Given the description of an element on the screen output the (x, y) to click on. 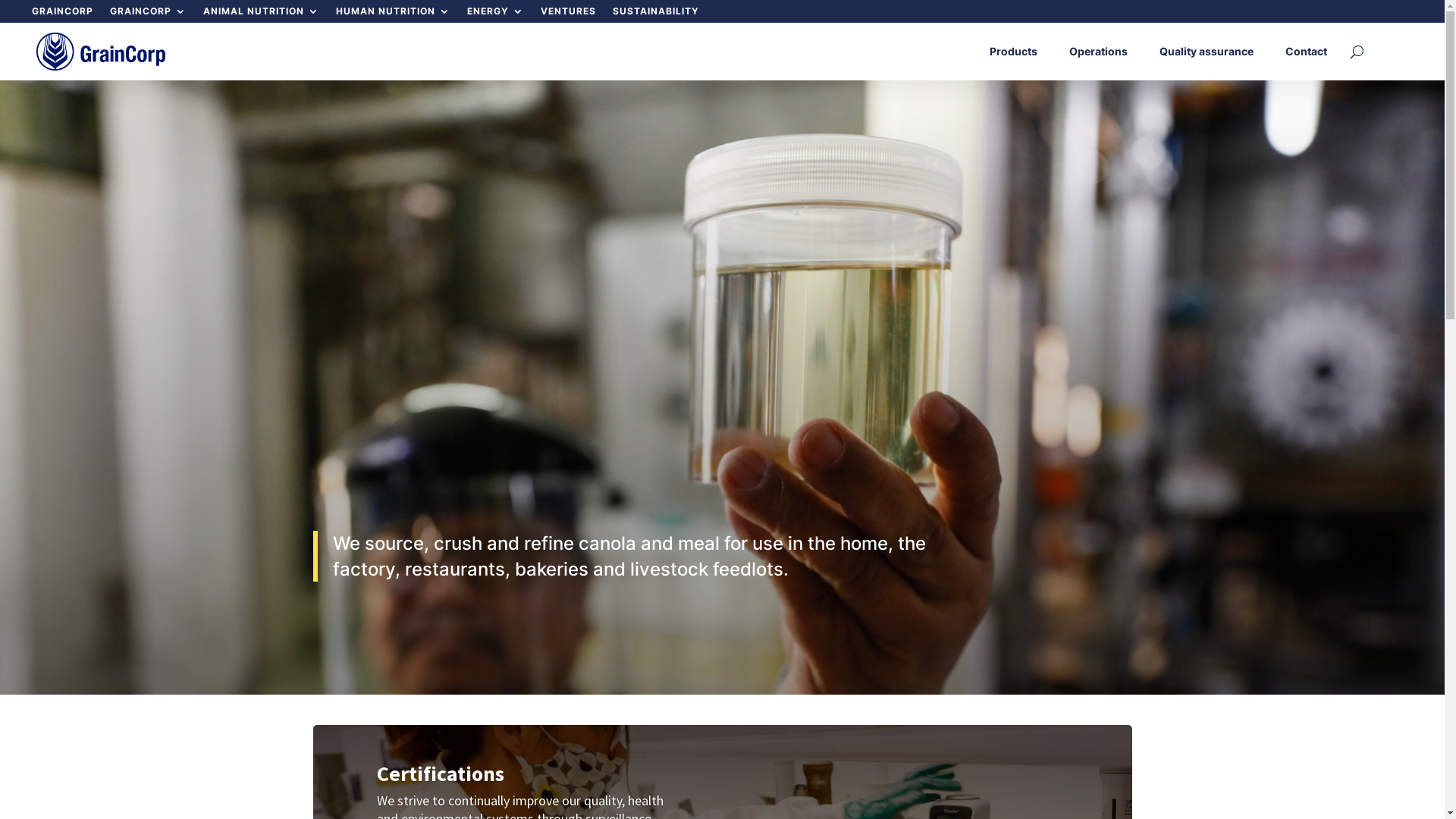
SUSTAINABILITY Element type: text (655, 14)
GRAINCORP Element type: text (147, 14)
Products Element type: text (1020, 51)
Certifications Element type: text (440, 773)
ANIMAL NUTRITION Element type: text (261, 14)
VENTURES Element type: text (568, 14)
Quality assurance Element type: text (1213, 51)
HUMAN NUTRITION Element type: text (392, 14)
Operations Element type: text (1105, 51)
ENERGY Element type: text (495, 14)
GRAINCORP Element type: text (62, 14)
Contact Element type: text (1313, 51)
